Given the description of an element on the screen output the (x, y) to click on. 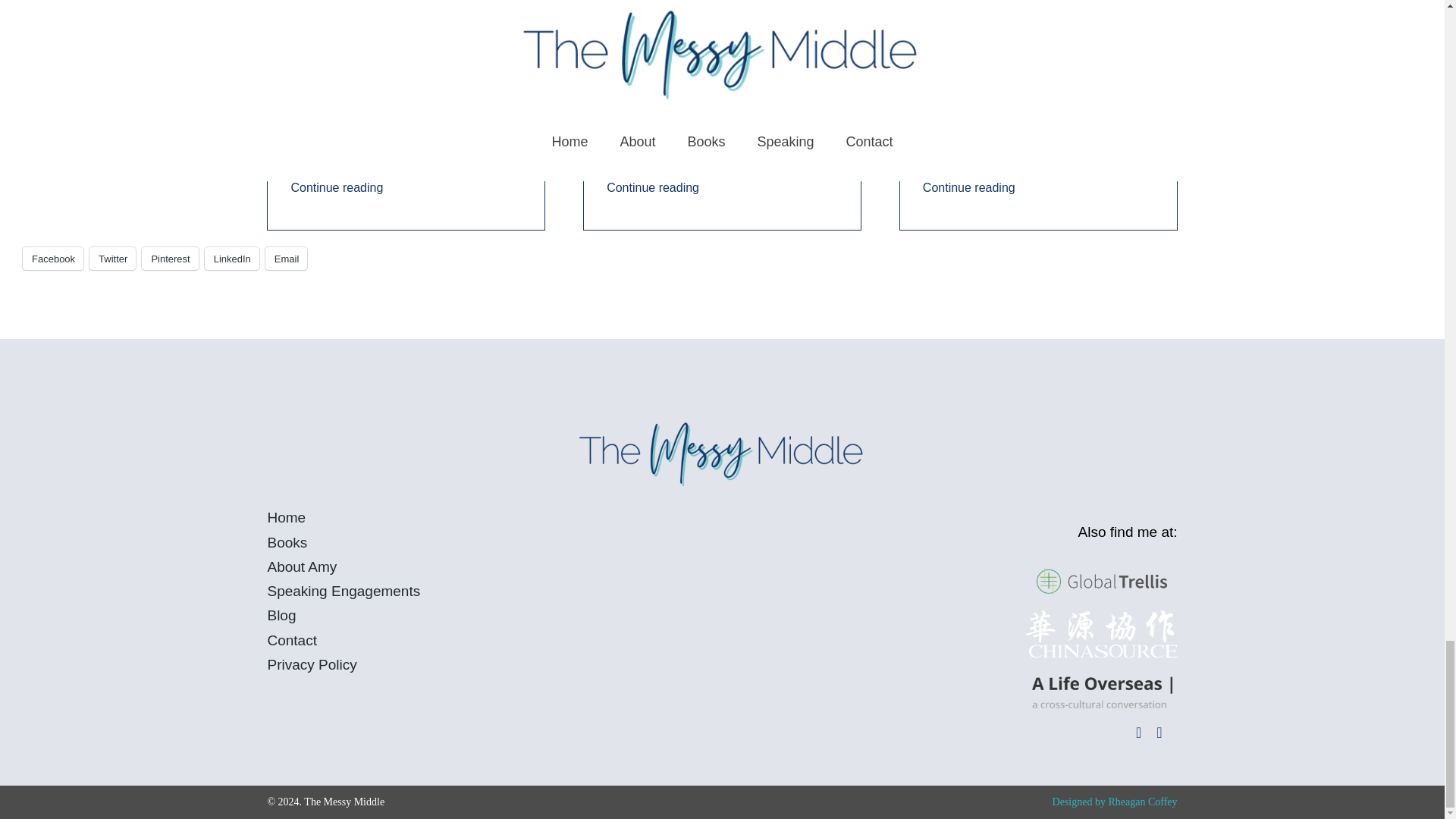
Click to share on LinkedIn (232, 258)
Summer Reading Challenge (737, 99)
Book (623, 99)
Click to share on Facebook (52, 258)
Click to share on Twitter (111, 258)
Click to email a link to a friend (285, 258)
Summer Reading Challenge (380, 99)
Click to share on Pinterest (169, 258)
Summer Reading Challenge (1013, 99)
